Given the description of an element on the screen output the (x, y) to click on. 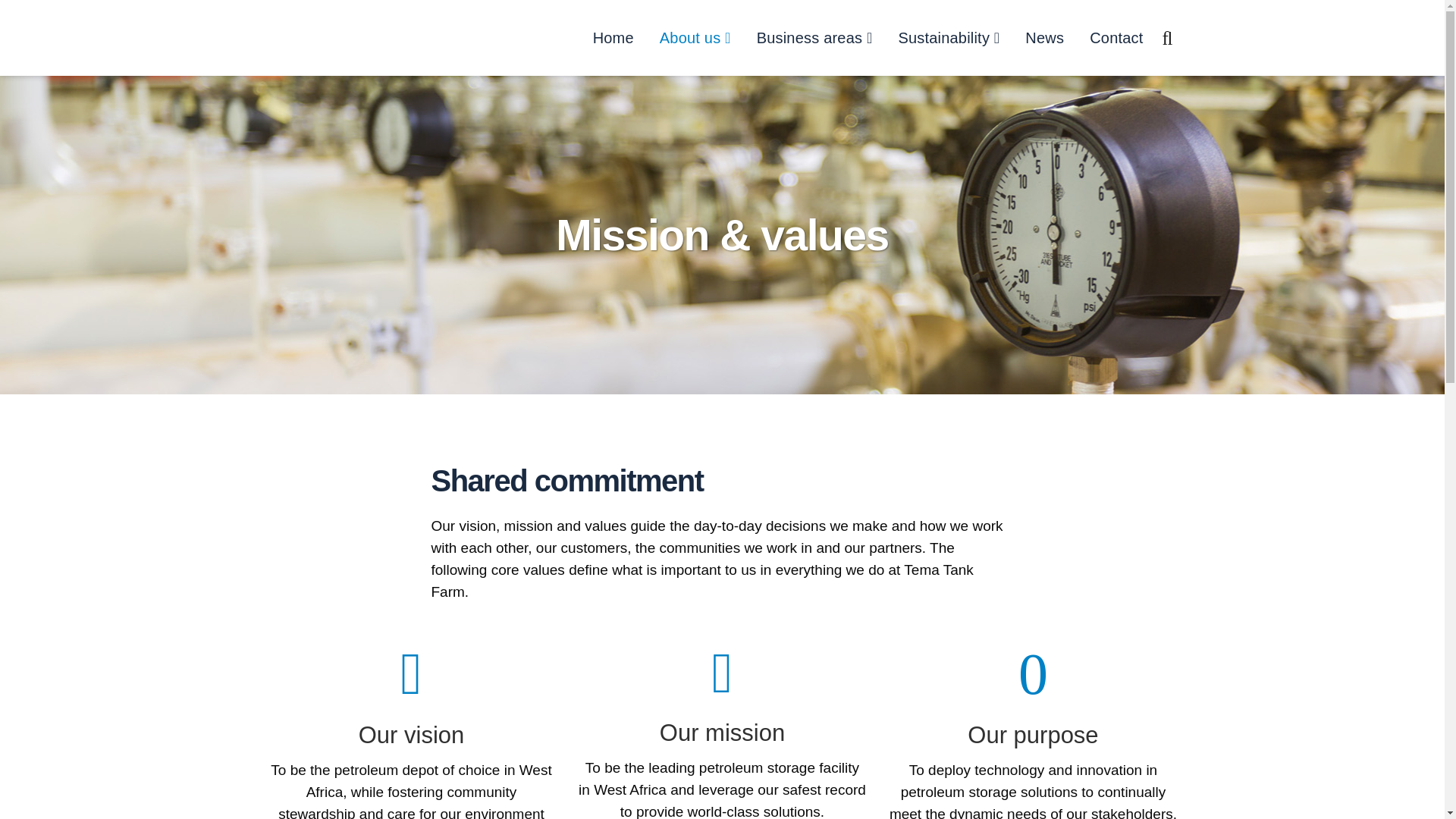
About us (695, 38)
Business areas (814, 38)
Sustainability (948, 38)
Contact (1116, 38)
